Given the description of an element on the screen output the (x, y) to click on. 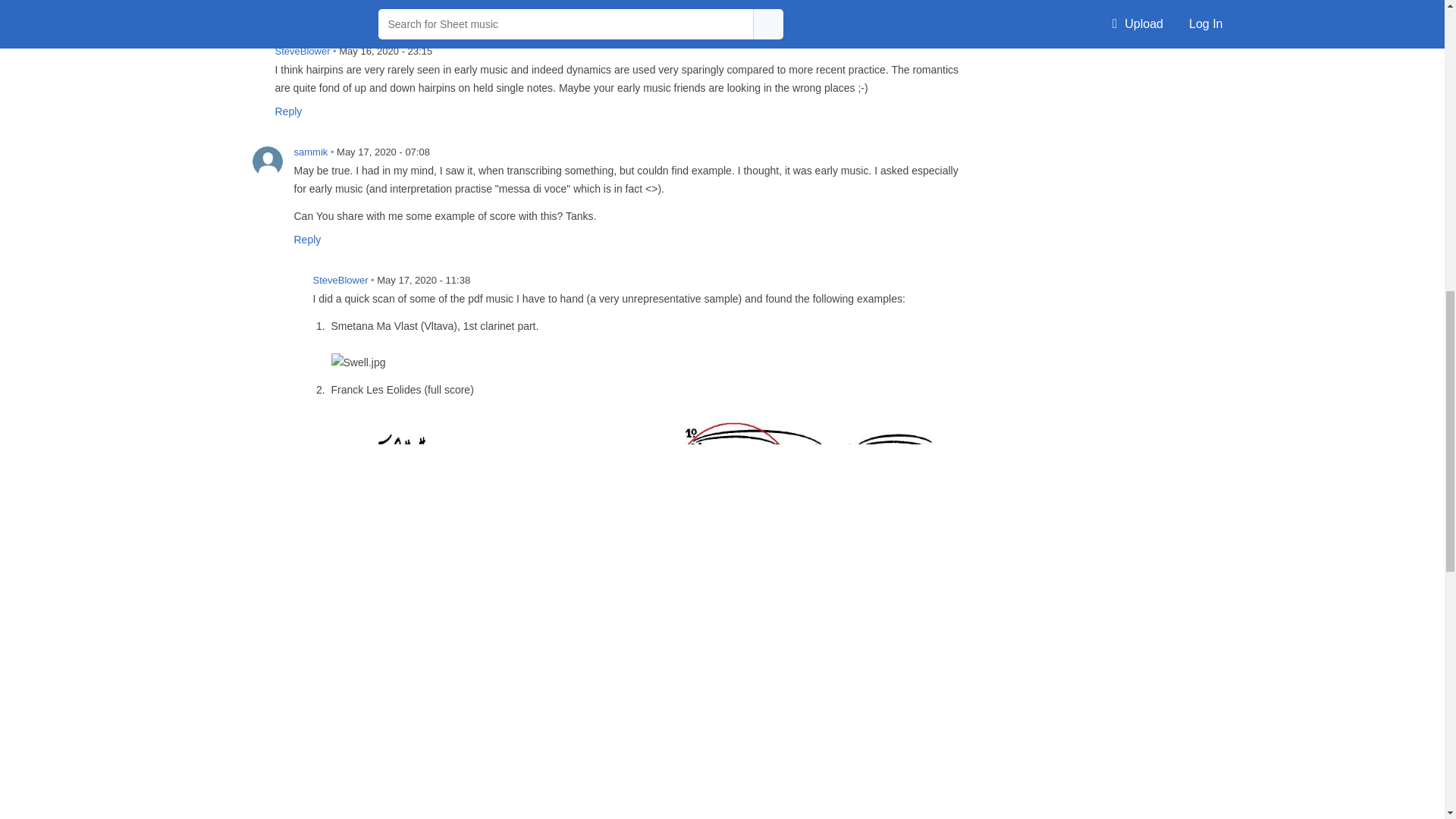
Swell.jpg (357, 361)
SteveBlower (247, 60)
SteveBlower (285, 289)
sammik (266, 161)
